Given the description of an element on the screen output the (x, y) to click on. 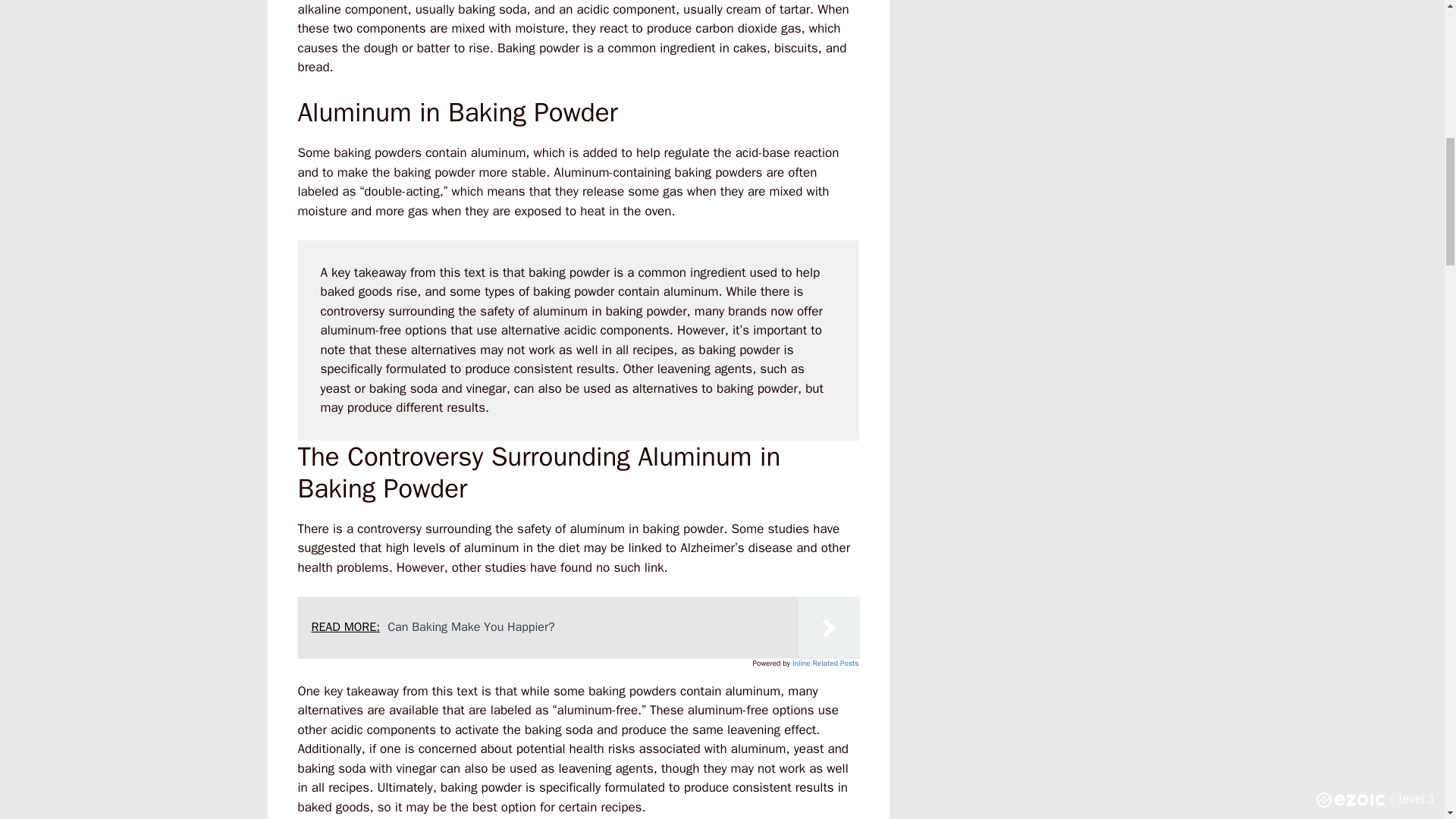
Inline Related Posts (825, 663)
READ MORE:  Can Baking Make You Happier? (578, 627)
Scroll back to top (1406, 720)
